Given the description of an element on the screen output the (x, y) to click on. 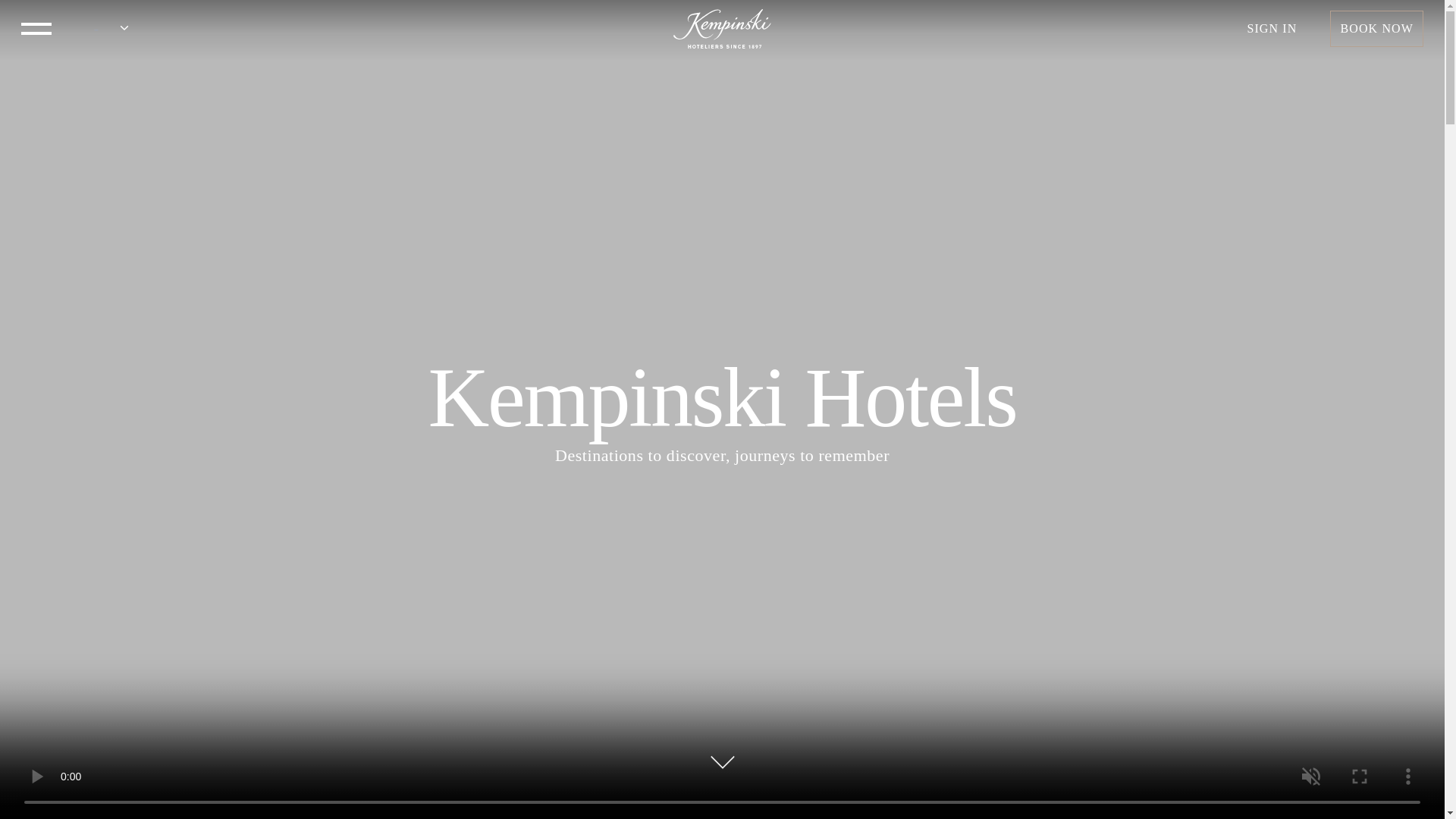
BOOK NOW (1376, 28)
SIGN IN (1271, 28)
